Given the description of an element on the screen output the (x, y) to click on. 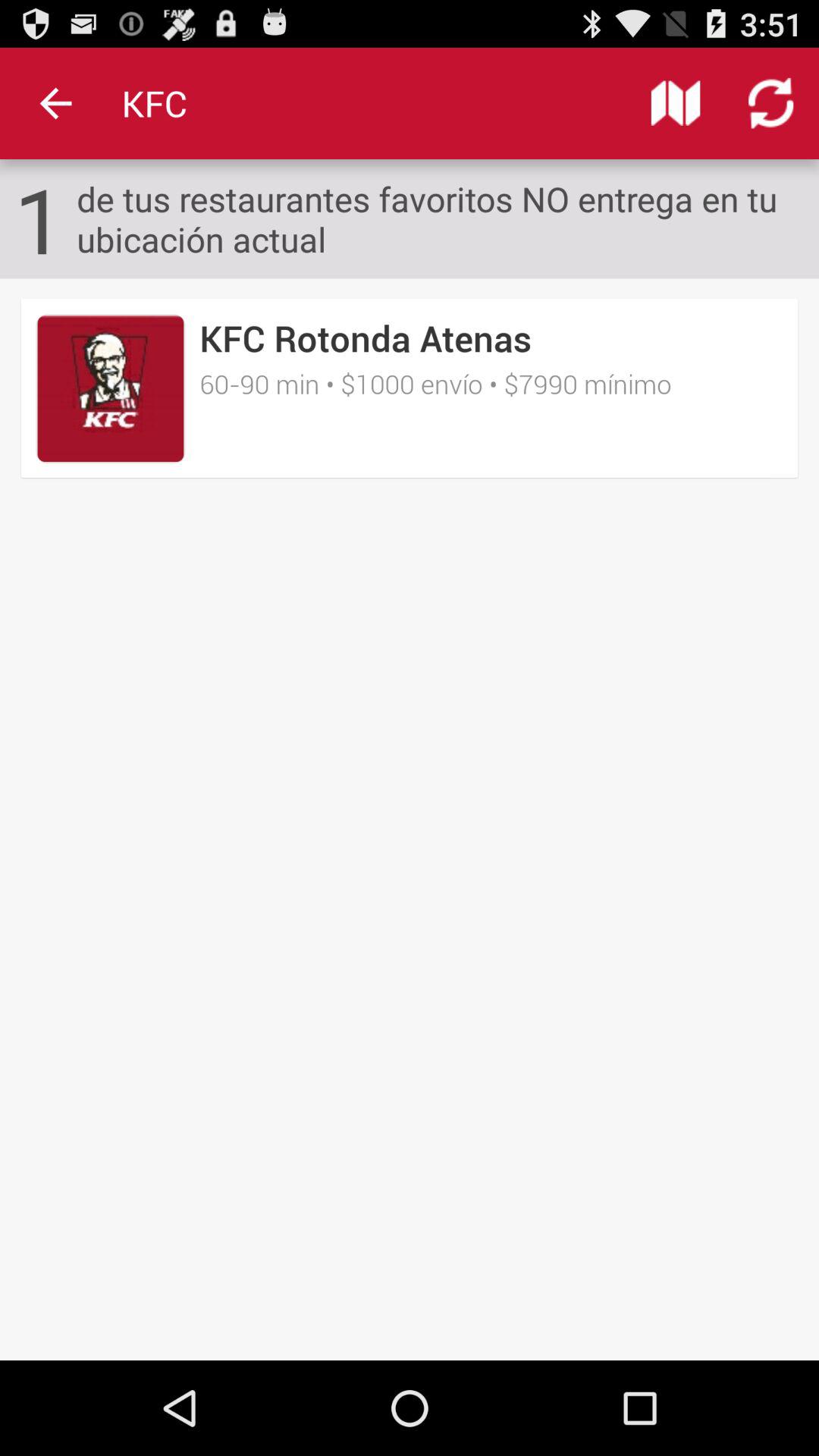
launch the item next to de tus restaurantes icon (39, 218)
